Given the description of an element on the screen output the (x, y) to click on. 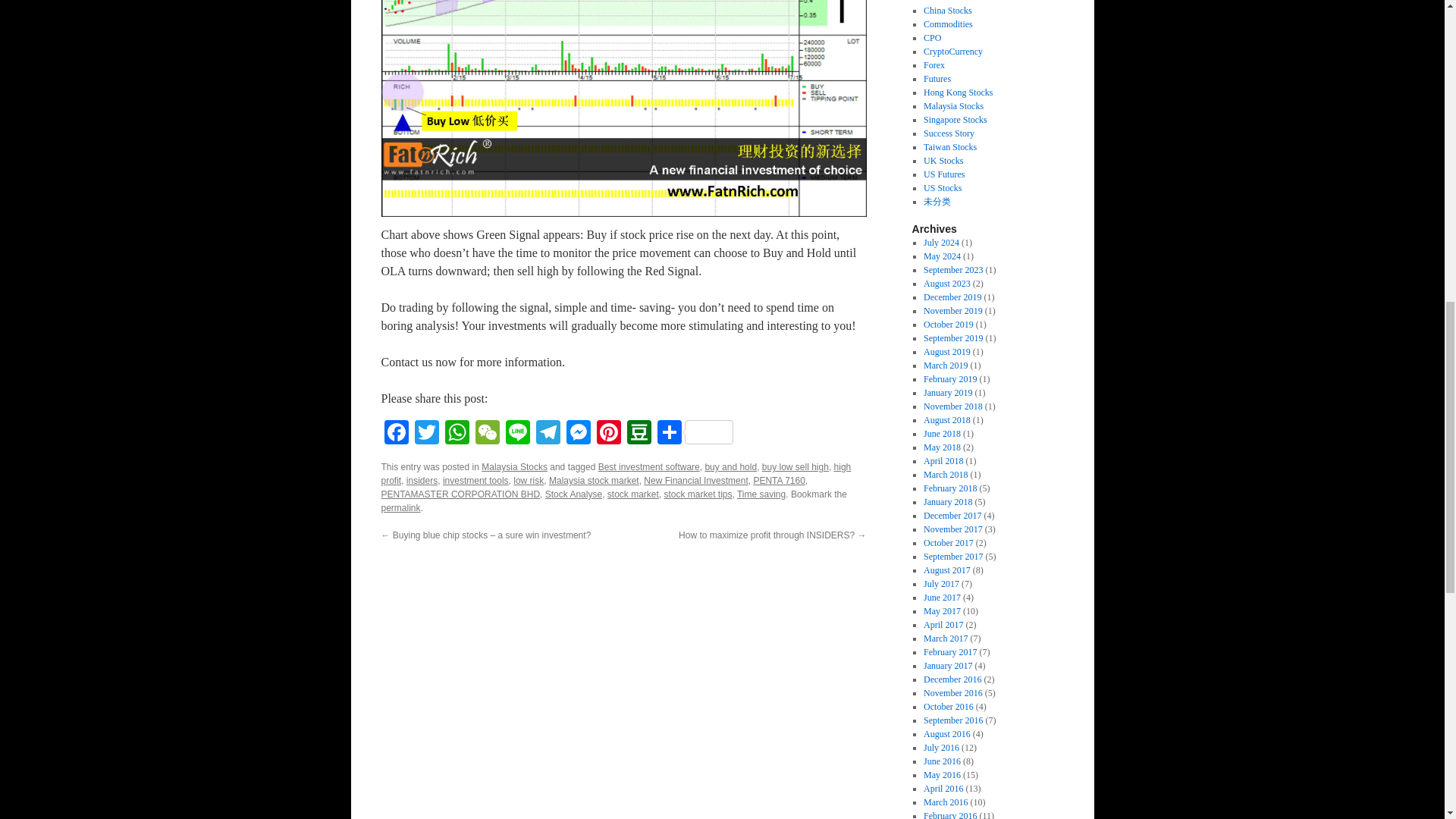
buy and hold (730, 466)
Douban (638, 433)
Malaysia stock market (593, 480)
low risk (528, 480)
Time saving (761, 493)
Twitter (425, 433)
stock market (633, 493)
Best investment software (649, 466)
Permalink to Choice Of A New Financial Investment (400, 507)
Messenger (577, 433)
Pinterest (607, 433)
high profit (615, 473)
insiders (422, 480)
stock market tips (697, 493)
Stock Analyse (573, 493)
